Given the description of an element on the screen output the (x, y) to click on. 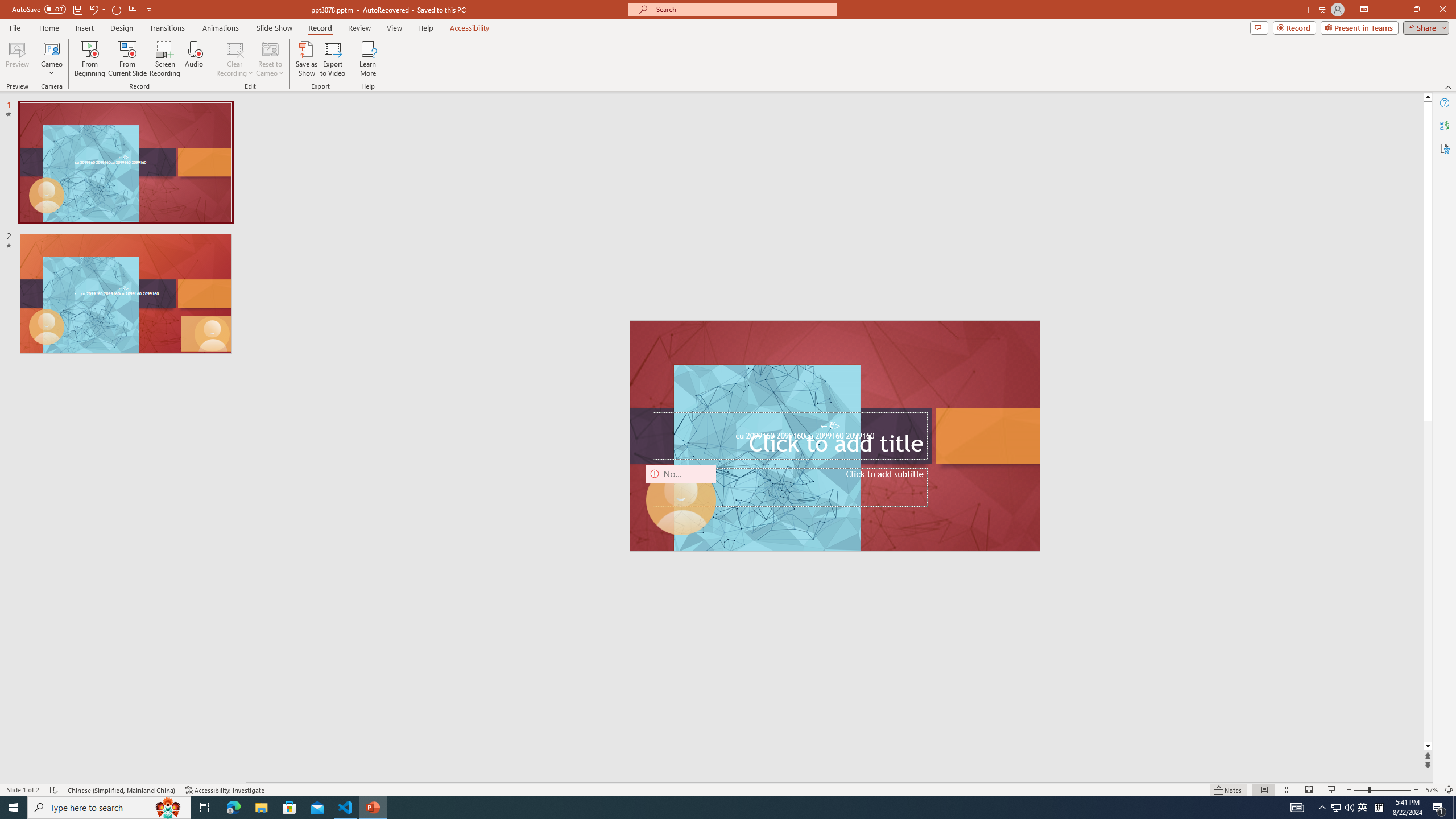
From Beginning... (89, 58)
Subtitle TextBox (789, 487)
